Given the description of an element on the screen output the (x, y) to click on. 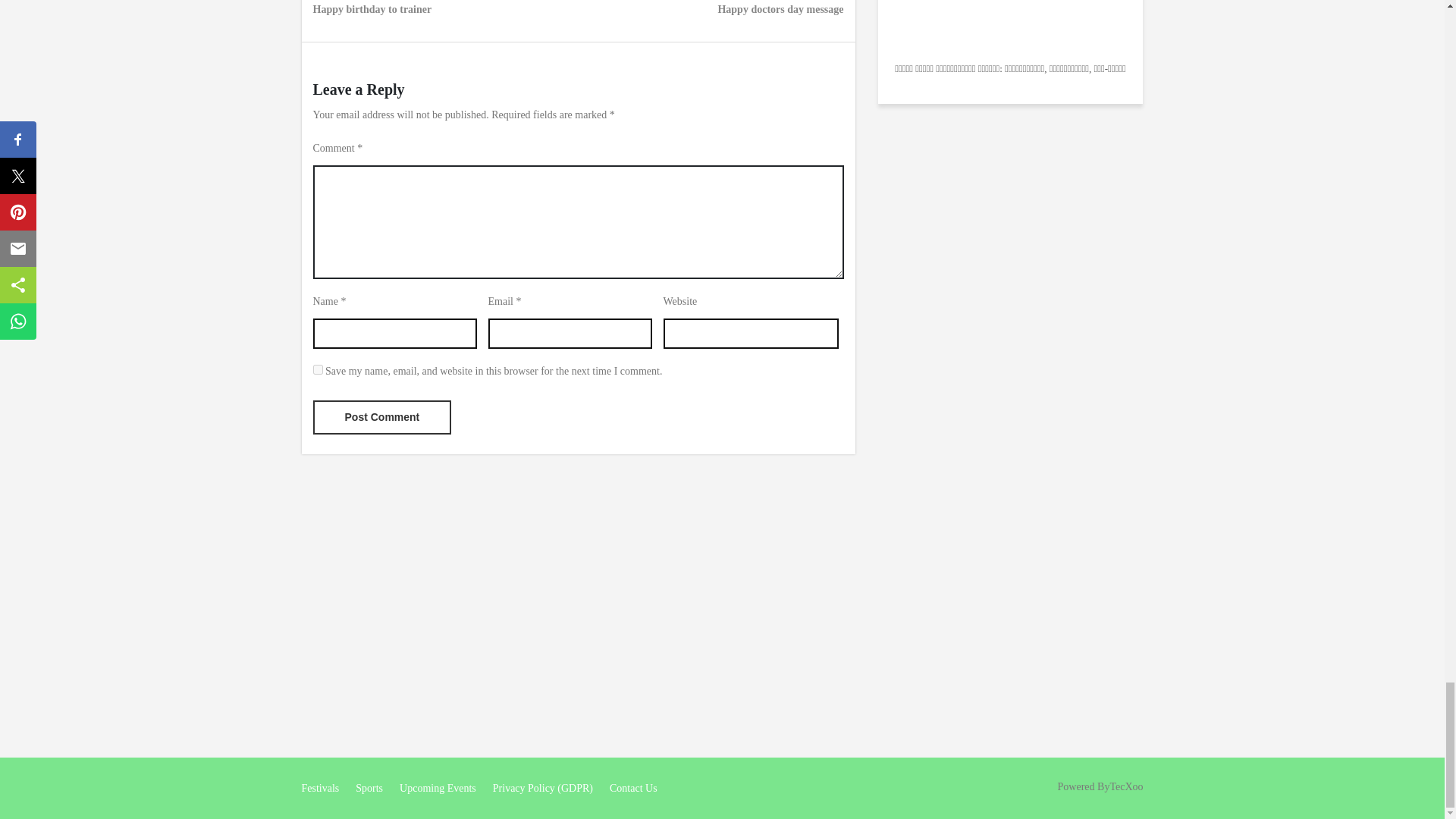
yes (371, 9)
Post Comment (317, 369)
Post Comment (780, 9)
